Given the description of an element on the screen output the (x, y) to click on. 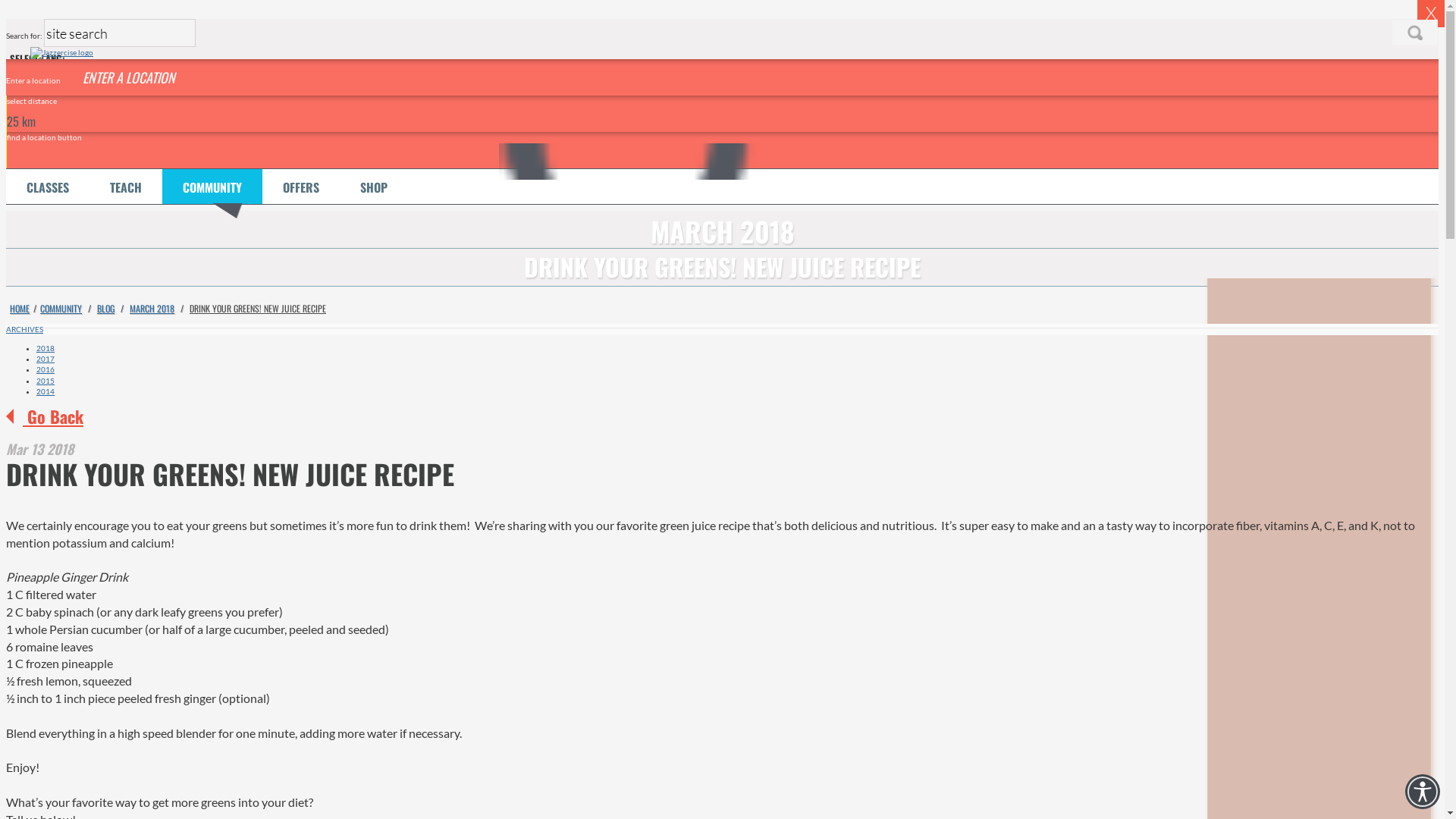
CLASSES Element type: text (47, 186)
2014 Element type: text (45, 390)
DRINK YOUR GREENS! NEW JUICE RECIPE Element type: text (257, 307)
HOME Element type: text (19, 307)
COMMUNITY Element type: text (60, 307)
ARCHIVES Element type: text (722, 328)
2018 Element type: text (45, 347)
BLOG Element type: text (105, 307)
OFFERS Element type: text (300, 186)
TEACH Element type: text (125, 186)
SHOP Element type: text (373, 186)
2015 Element type: text (45, 380)
Jazzercise logo Element type: hover (61, 53)
2017 Element type: text (45, 358)
2016 Element type: text (45, 368)
COMMUNITY Element type: text (212, 186)
Search Element type: text (1414, 32)
Go Back Element type: text (44, 416)
MARCH 2018 Element type: text (151, 307)
